Given the description of an element on the screen output the (x, y) to click on. 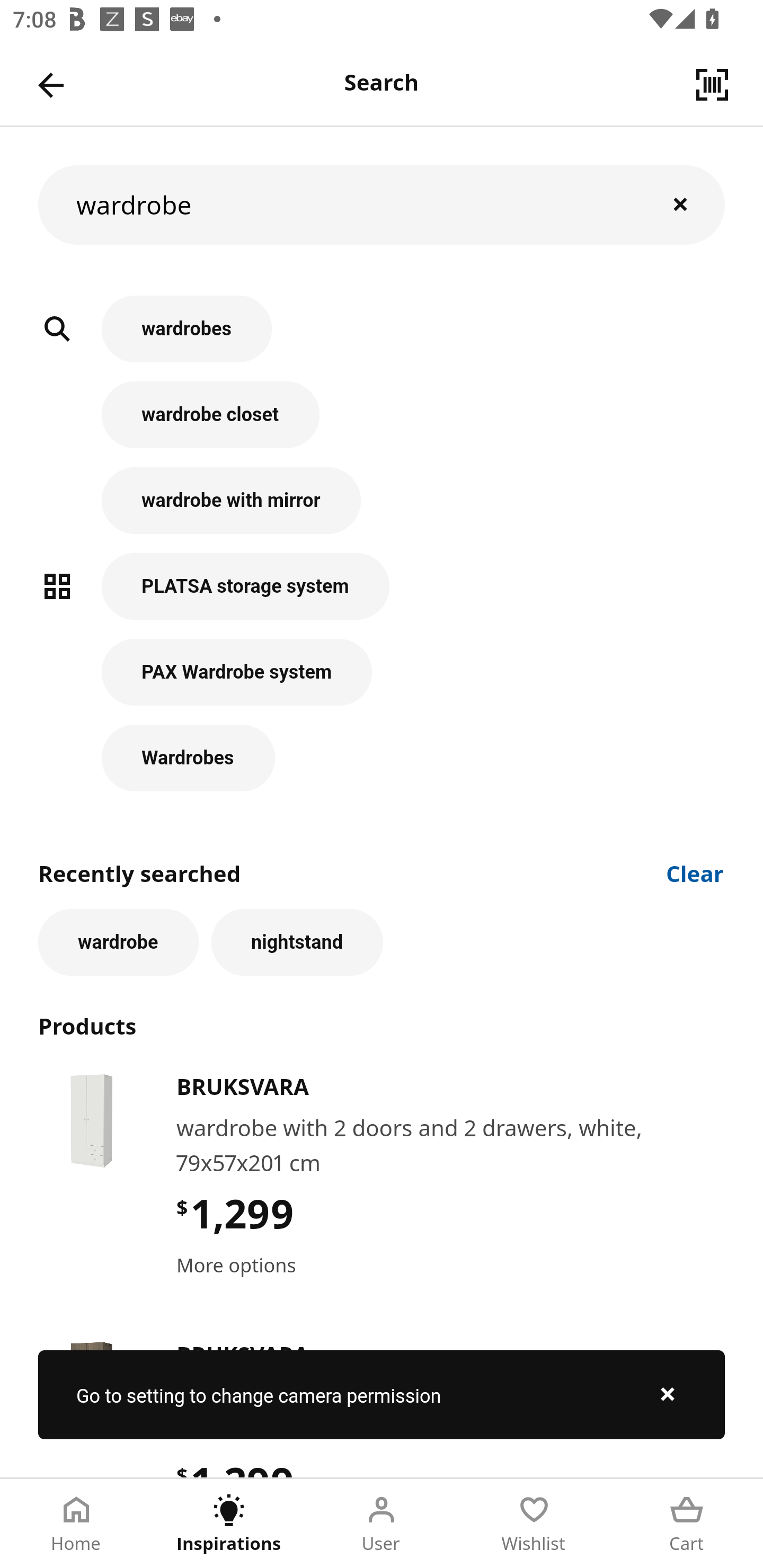
wardrobe (381, 204)
wardrobes (381, 338)
wardrobe closet (381, 424)
wardrobe with mirror (381, 510)
PLATSA storage system (381, 595)
PAX Wardrobe system (381, 681)
Wardrobes (381, 757)
Clear (695, 872)
wardrobe (118, 942)
nightstand (297, 942)
Go to setting to change camera permission (381, 1394)
Home
Tab 1 of 5 (76, 1522)
Inspirations
Tab 2 of 5 (228, 1522)
User
Tab 3 of 5 (381, 1522)
Wishlist
Tab 4 of 5 (533, 1522)
Cart
Tab 5 of 5 (686, 1522)
